Given the description of an element on the screen output the (x, y) to click on. 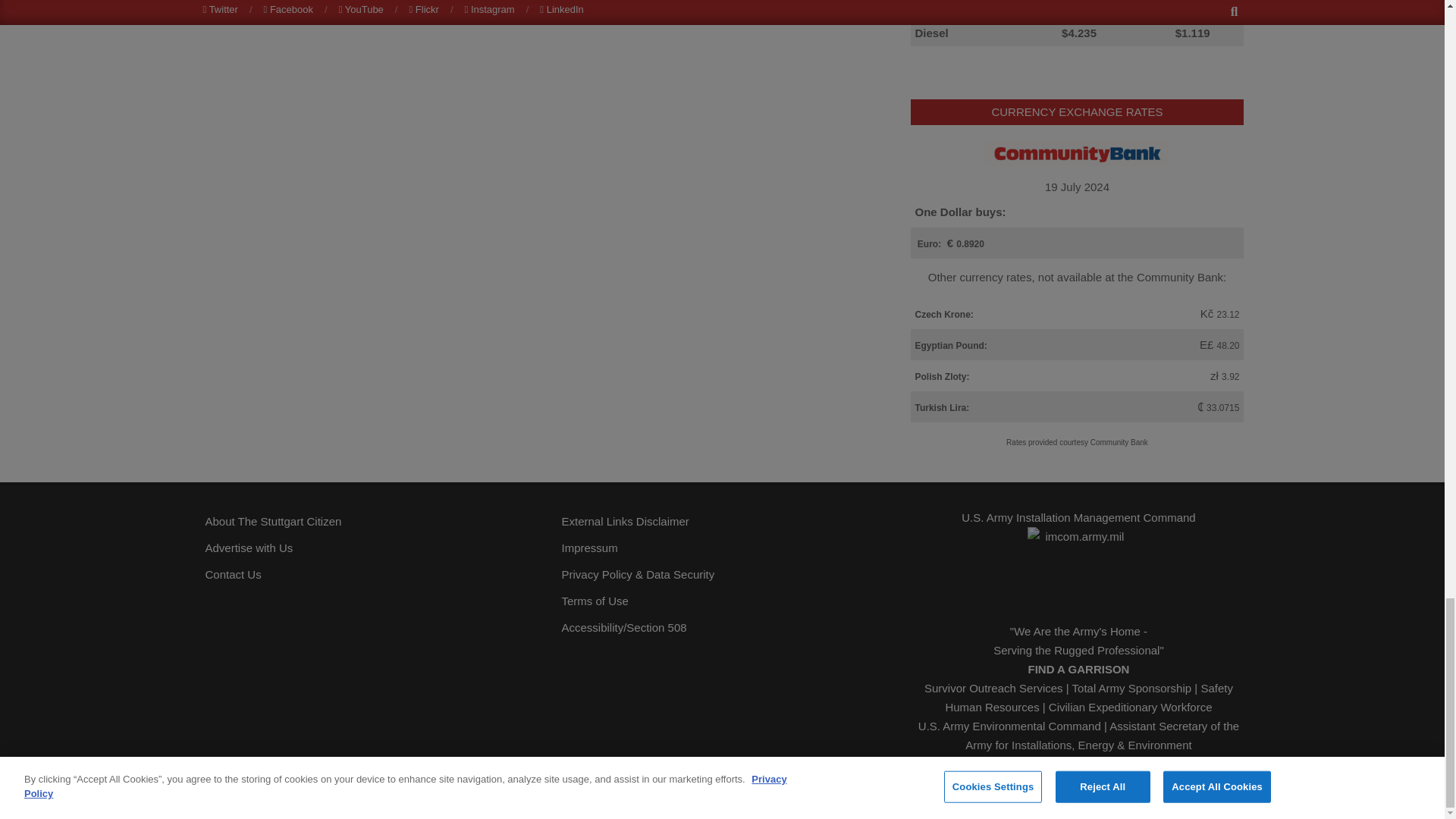
Opens in a new window (721, 627)
